Given the description of an element on the screen output the (x, y) to click on. 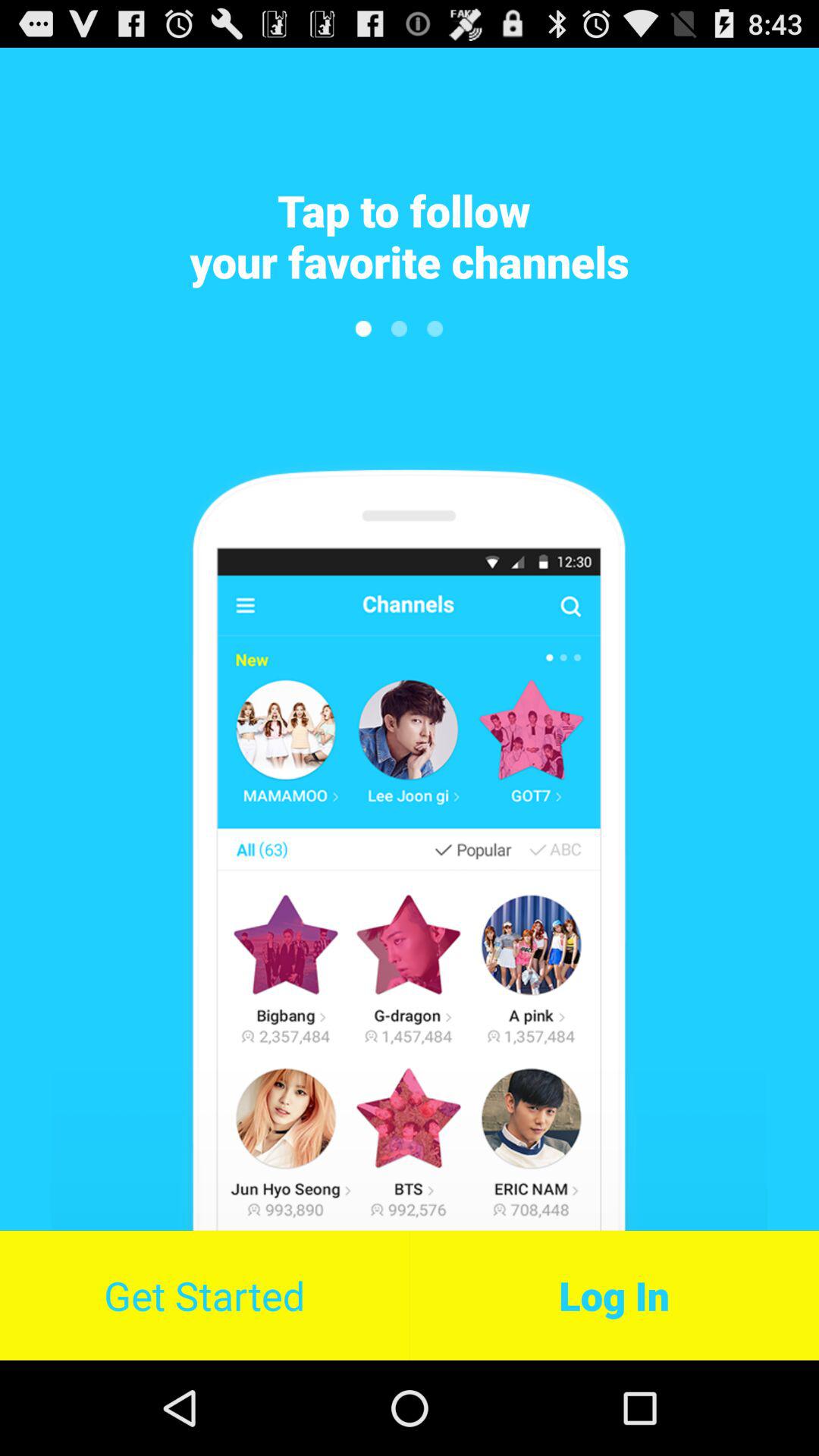
swipe to the log in (614, 1295)
